Given the description of an element on the screen output the (x, y) to click on. 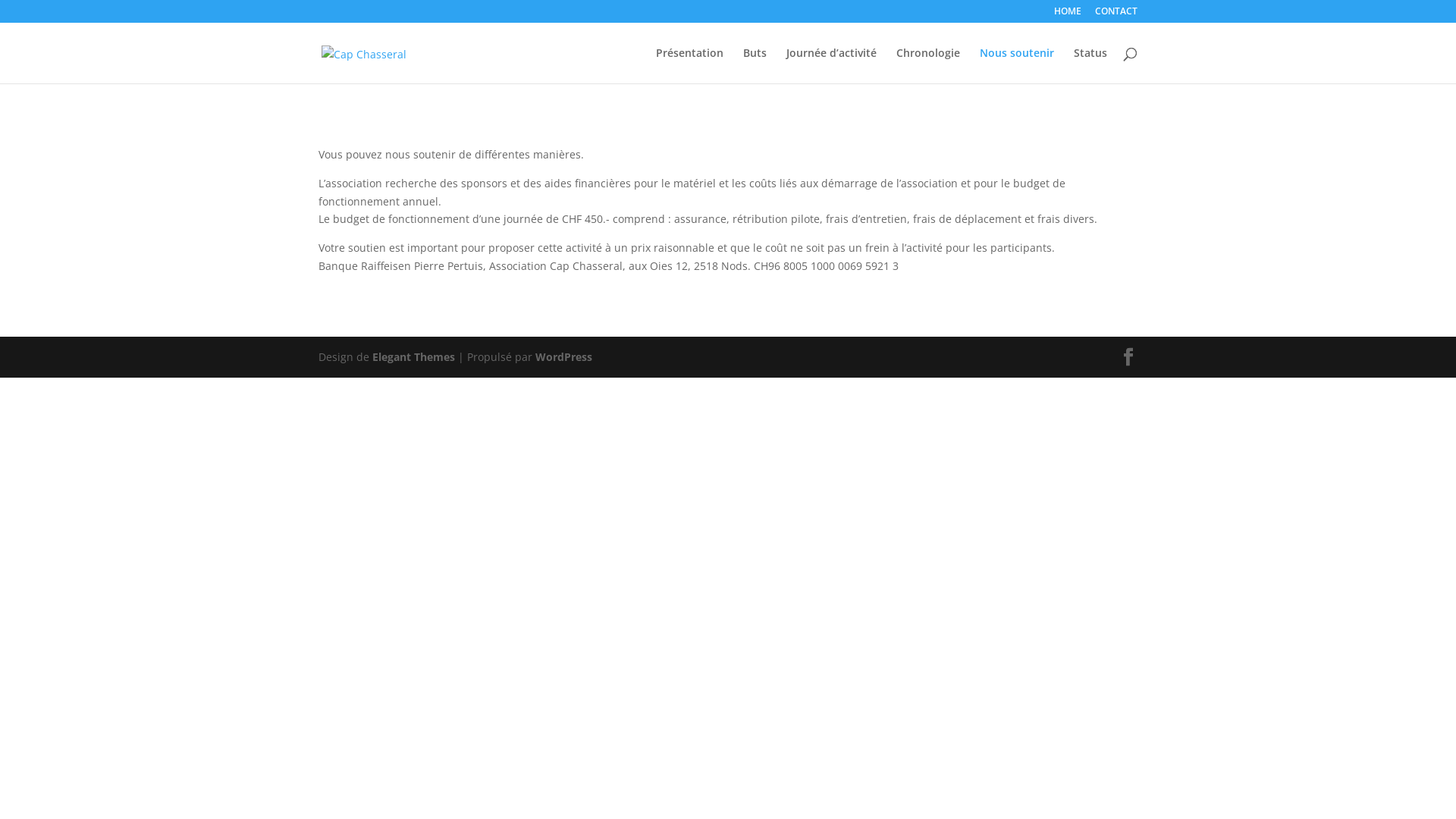
CONTACT Element type: text (1116, 14)
Buts Element type: text (754, 65)
Chronologie Element type: text (928, 65)
Elegant Themes Element type: text (413, 356)
Status Element type: text (1090, 65)
WordPress Element type: text (563, 356)
Nous soutenir Element type: text (1016, 65)
HOME Element type: text (1067, 14)
